Given the description of an element on the screen output the (x, y) to click on. 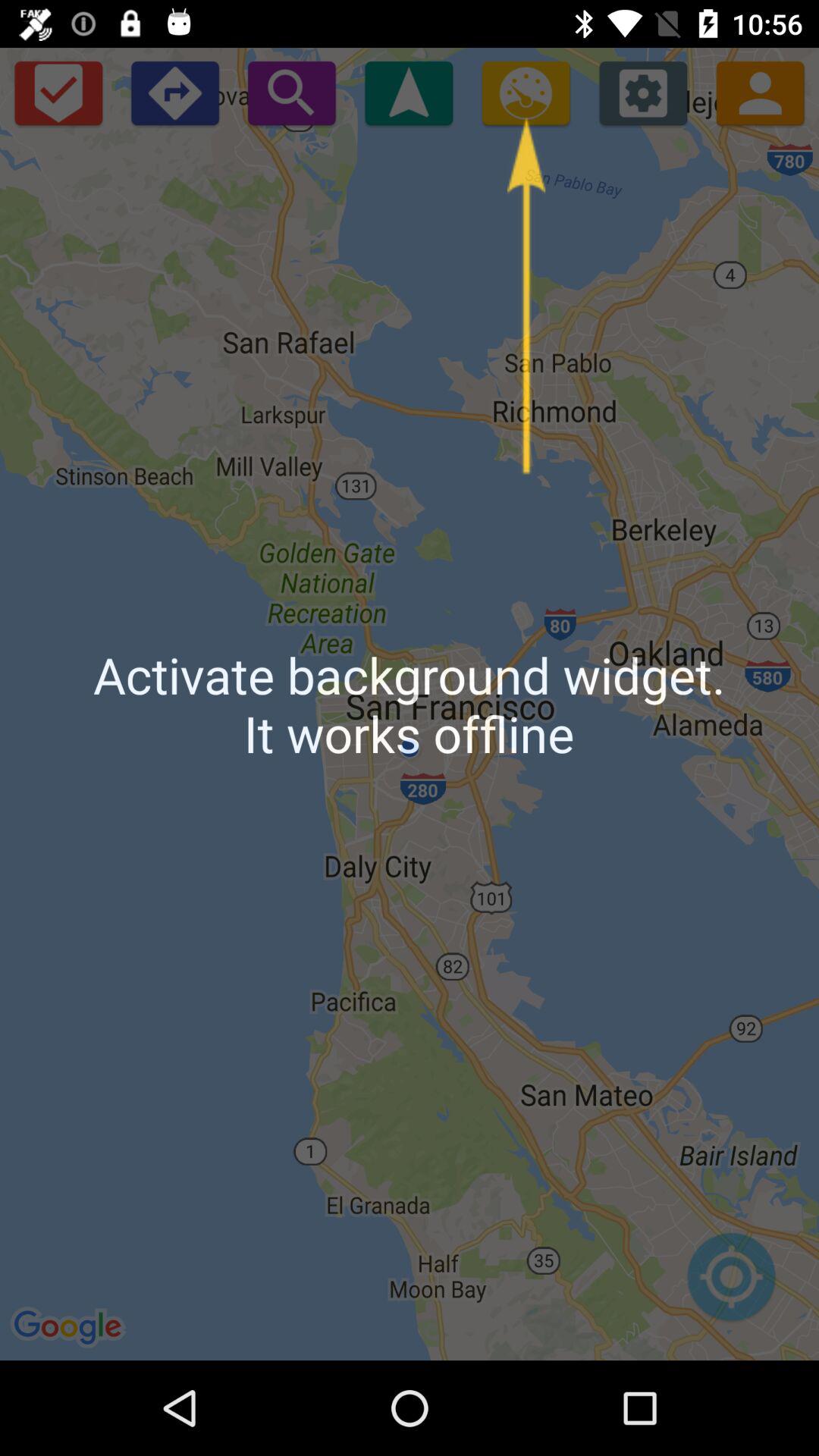
view directions (174, 92)
